Given the description of an element on the screen output the (x, y) to click on. 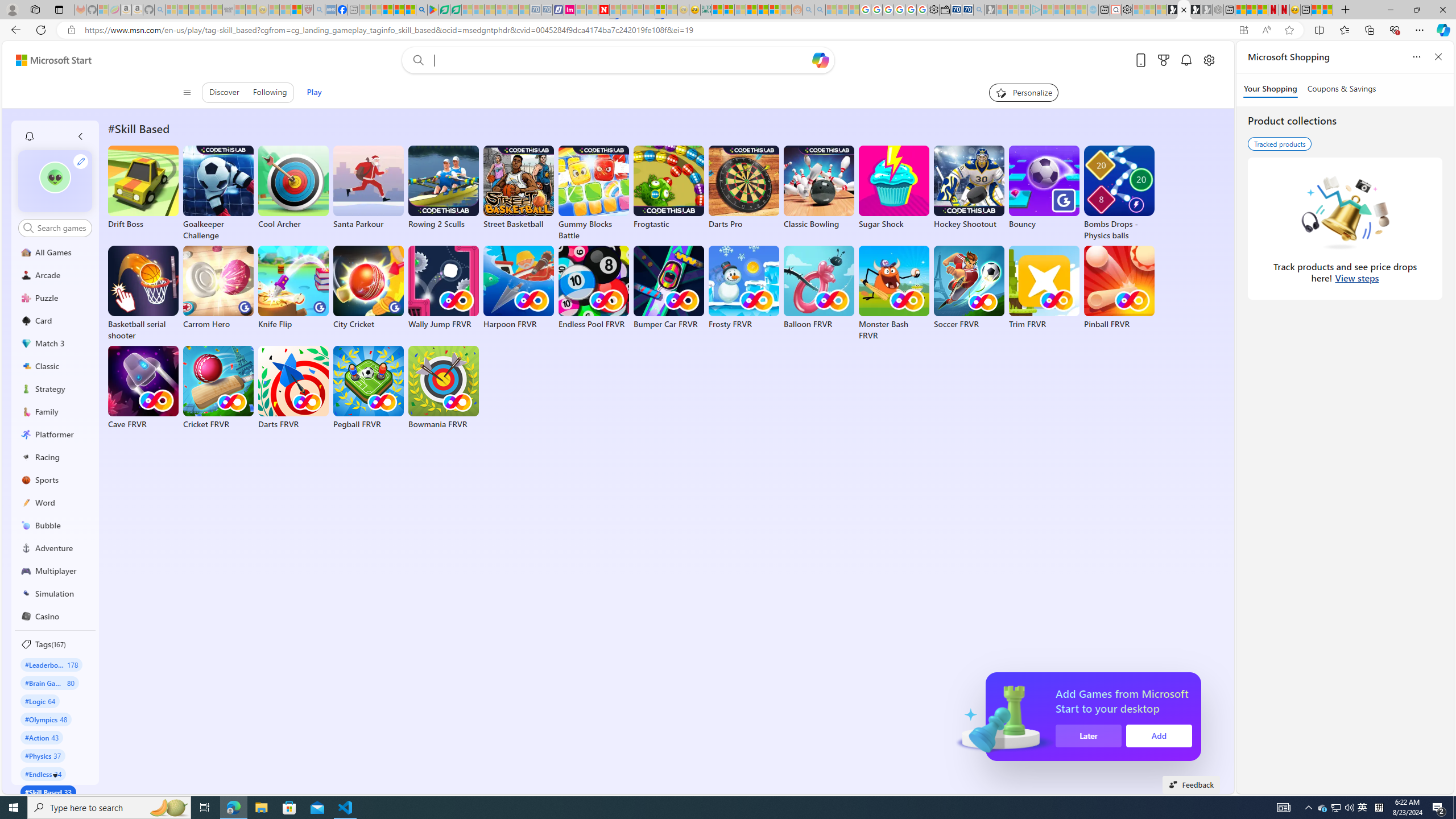
Jobs - lastminute.com Investor Portal (569, 9)
#Action 43 (42, 737)
Class: search-icon (28, 227)
Bombs Drops - Physics balls (1119, 192)
#Logic 64 (39, 700)
